Given the description of an element on the screen output the (x, y) to click on. 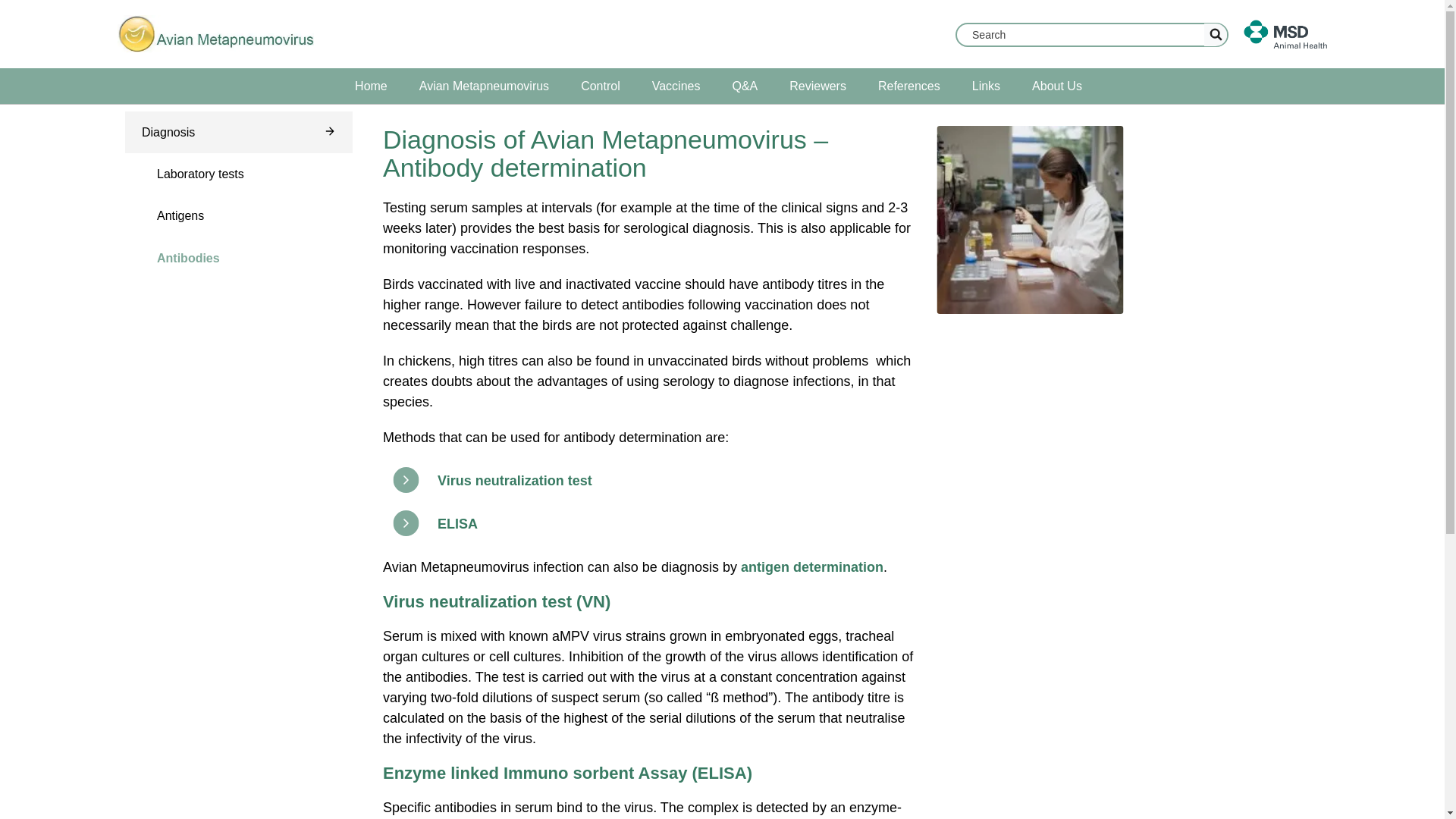
Home (371, 85)
Submit search (1215, 34)
References (908, 85)
ELISA (457, 523)
Vaccines (676, 85)
Reviewers (817, 85)
Control (600, 85)
Laboratory tests (238, 173)
antigen determination (812, 566)
About Us (1056, 85)
Antigens (238, 215)
Avian Metapneumovirus (483, 85)
Links (986, 85)
Virus neutralization test (515, 480)
Antibodies (238, 258)
